Given the description of an element on the screen output the (x, y) to click on. 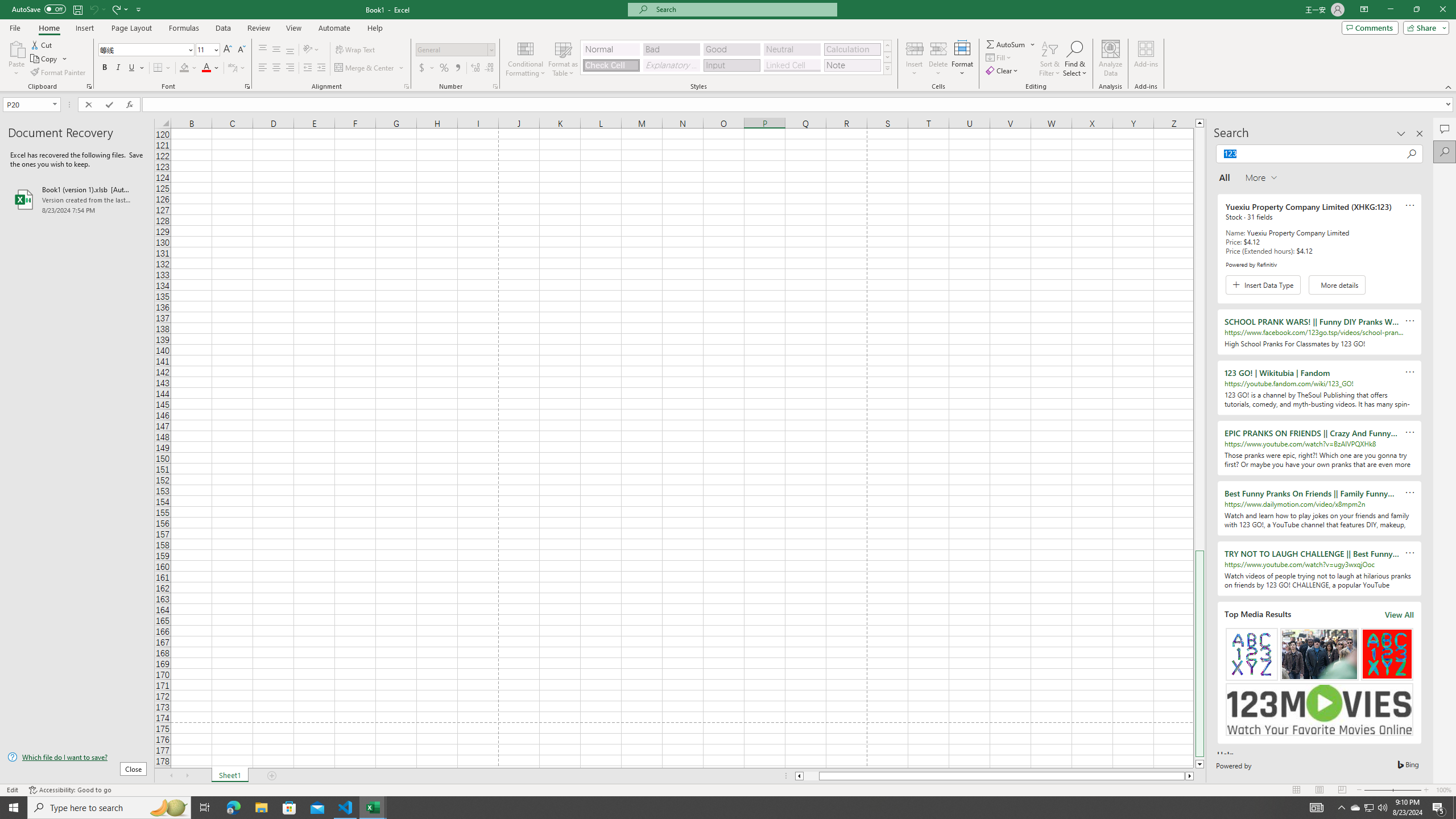
Format Painter (58, 72)
Bold (104, 67)
Delete (938, 58)
Font Size (204, 49)
Orientation (311, 49)
Neutral (791, 49)
Explanatory Text (671, 65)
